Given the description of an element on the screen output the (x, y) to click on. 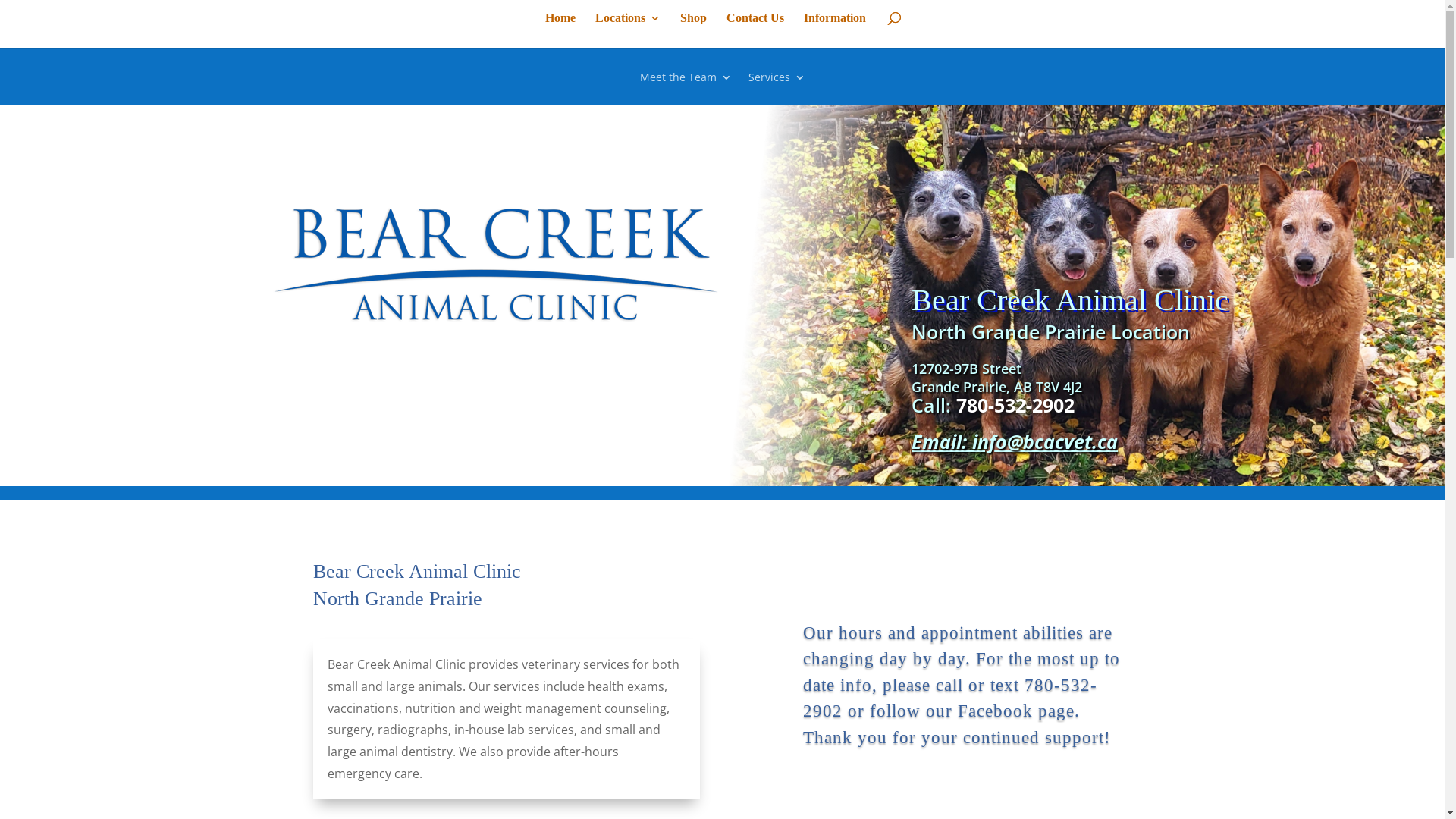
Shop Element type: text (693, 29)
780-532-2902 Element type: text (1015, 404)
Information Element type: text (834, 29)
Services Element type: text (775, 88)
Contact Us Element type: text (755, 29)
Home Element type: text (560, 29)
Meet the Team Element type: text (685, 88)
Locations Element type: text (627, 29)
